Given the description of an element on the screen output the (x, y) to click on. 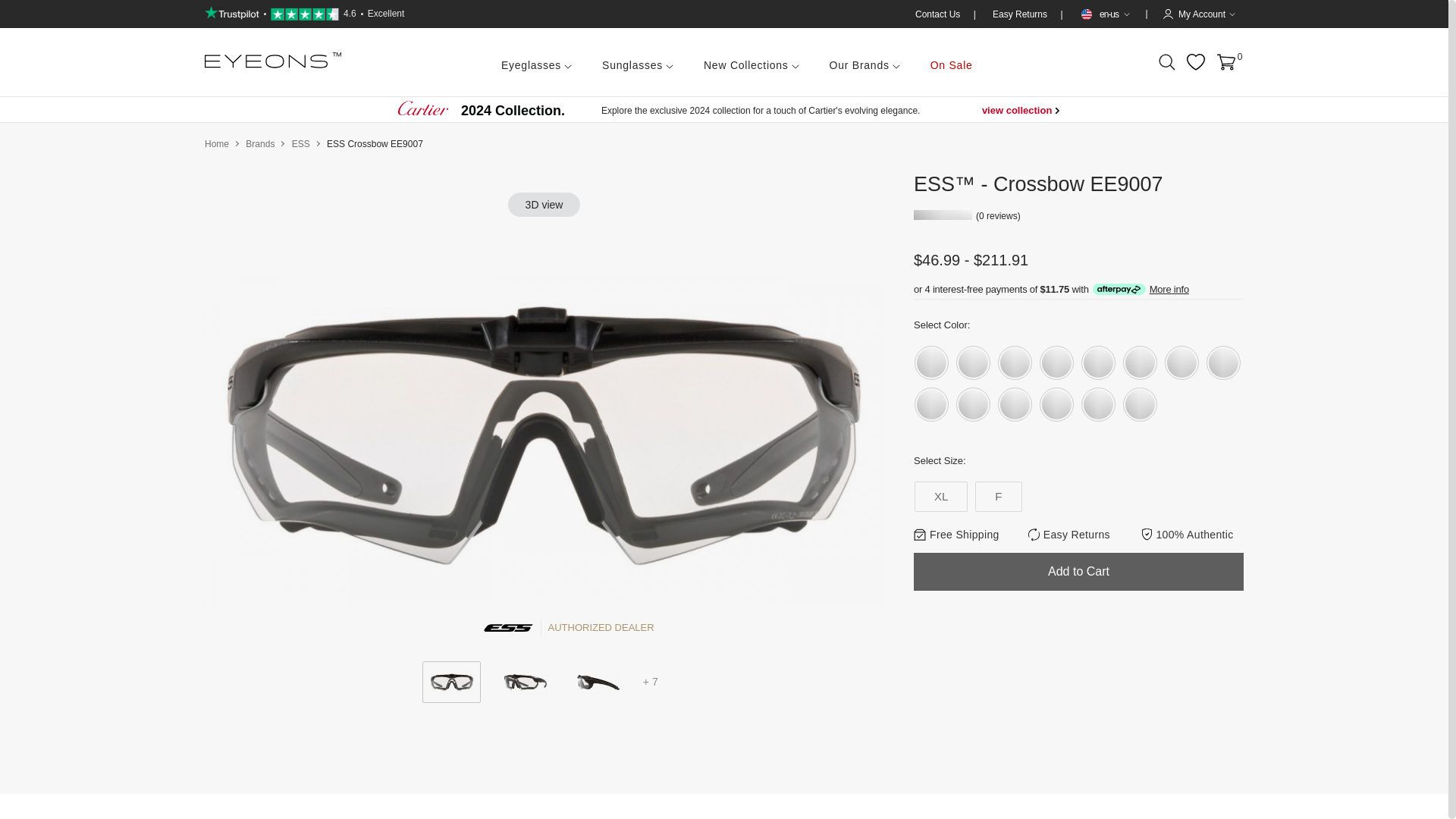
Contact Us (938, 14)
Easy Returns (1020, 14)
Brands (260, 143)
ESS (301, 143)
AUTHORIZED DEALER (544, 627)
Add to Cart (1078, 571)
Eyeglasses (304, 13)
3D view (536, 61)
